Given the description of an element on the screen output the (x, y) to click on. 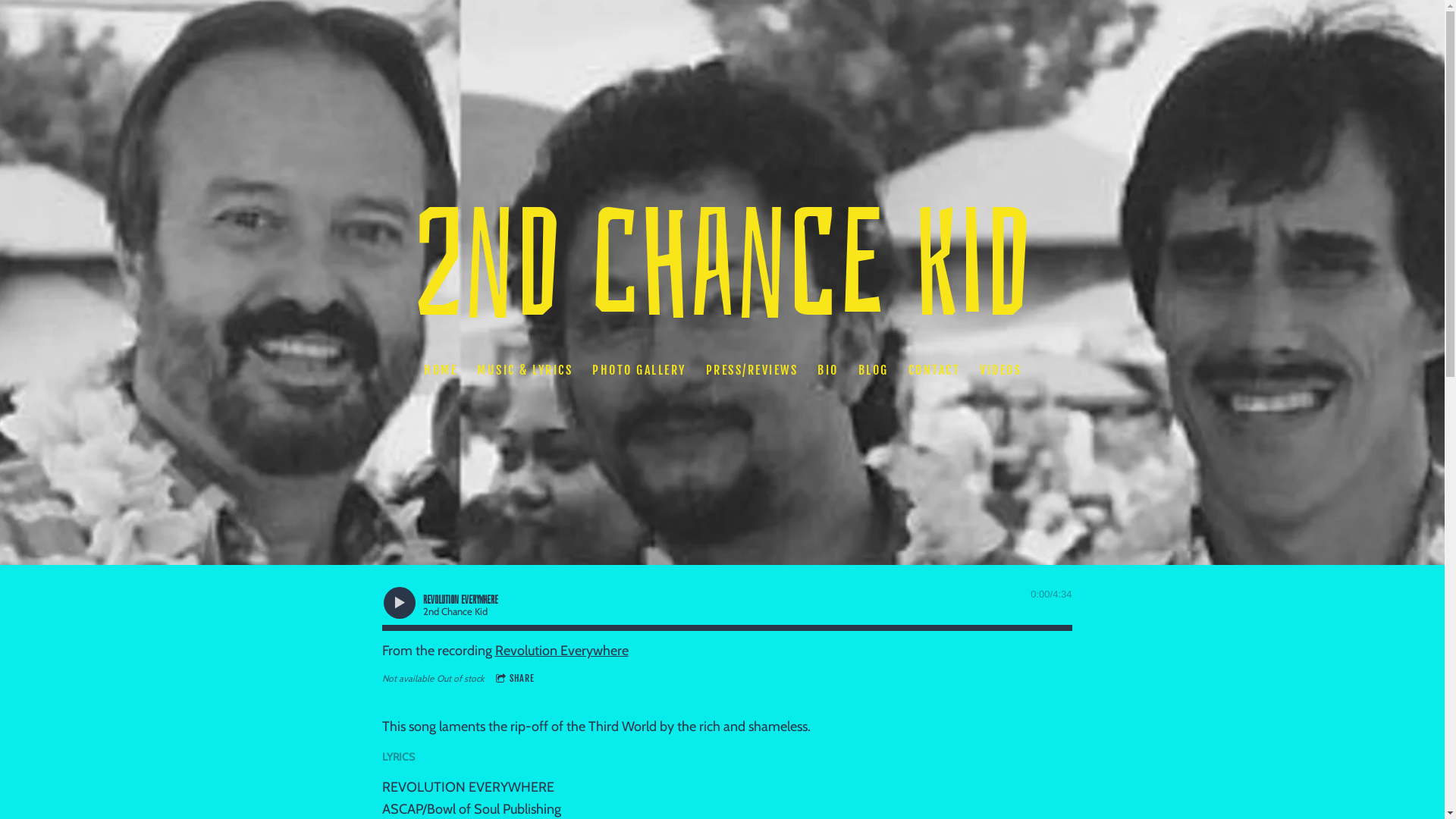
VIDEOS Element type: text (1000, 370)
BIO Element type: text (827, 370)
HOME Element type: text (439, 370)
PRESS/REVIEWS Element type: text (751, 370)
CONTACT Element type: text (933, 370)
Revolution Everywhere Element type: text (560, 650)
SHARE Element type: text (514, 678)
PHOTO GALLERY Element type: text (638, 370)
MUSIC & LYRICS Element type: text (523, 370)
2nd Chance Kid Element type: text (722, 307)
Play Element type: hover (398, 602)
BLOG Element type: text (872, 370)
